Given the description of an element on the screen output the (x, y) to click on. 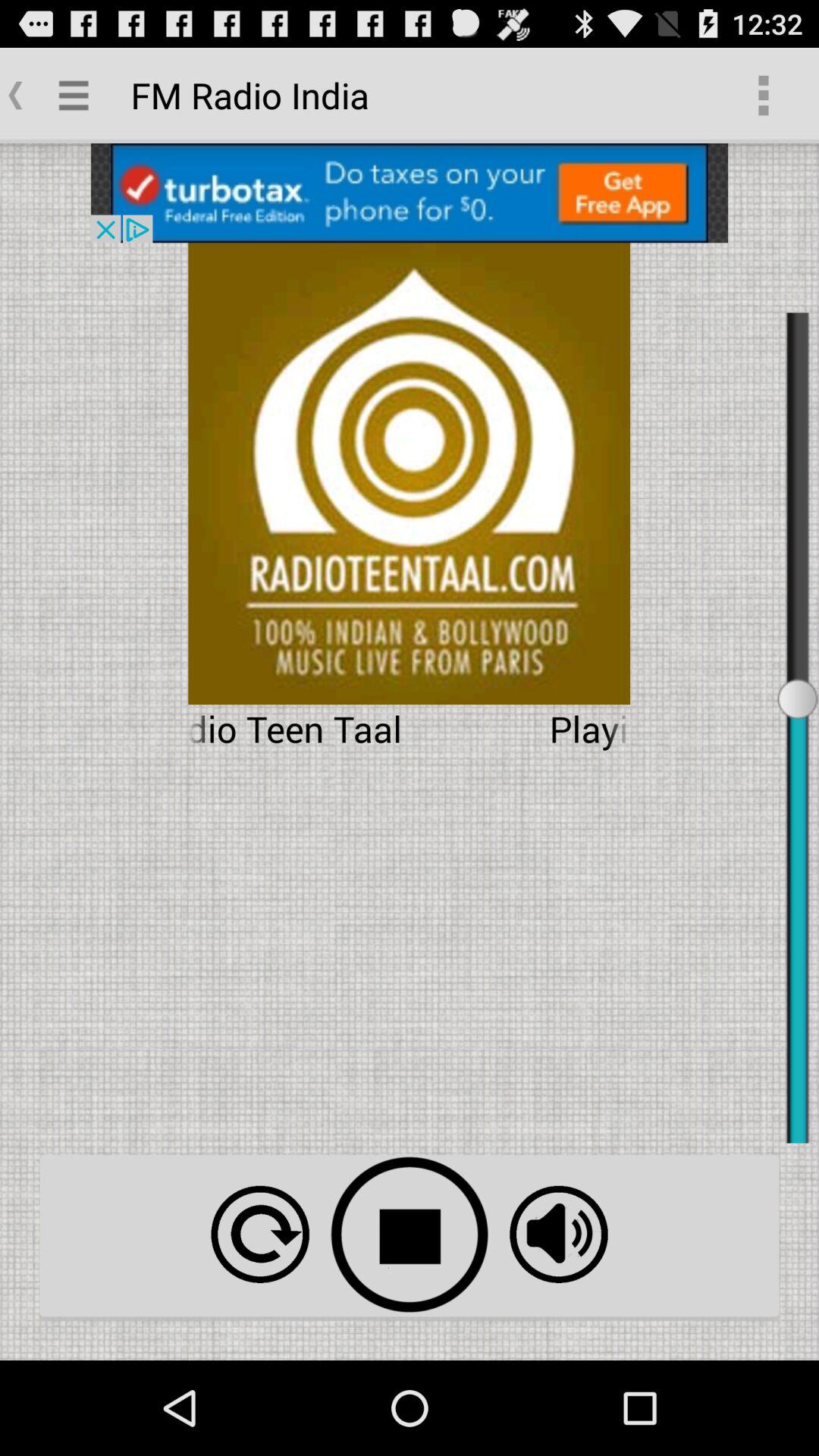
screen page (409, 192)
